Given the description of an element on the screen output the (x, y) to click on. 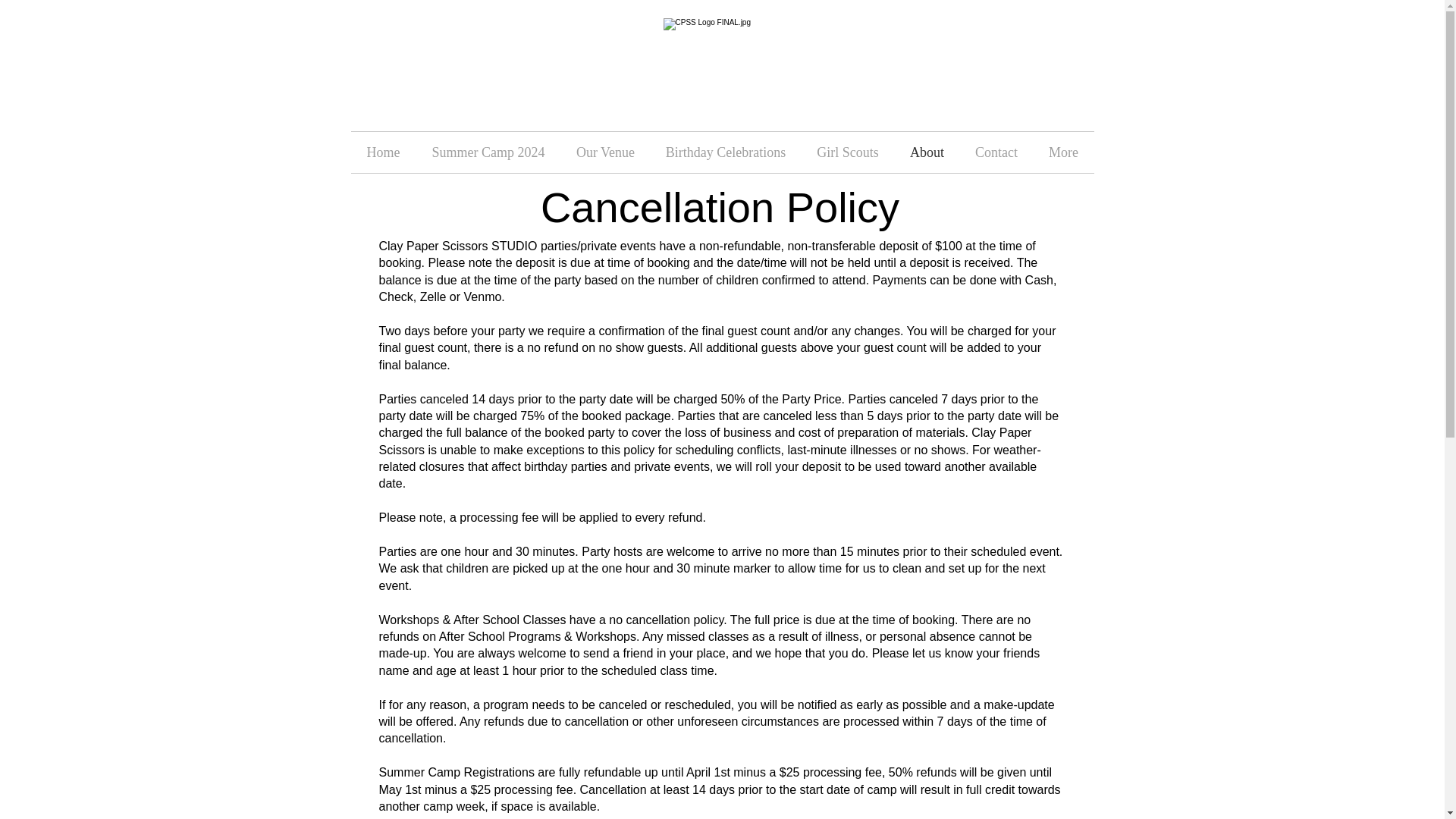
Home (382, 151)
Girl Scouts (846, 151)
Birthday Celebrations (726, 151)
Our Venue (605, 151)
About (927, 151)
Contact (996, 151)
Summer Camp 2024 (487, 151)
